Given the description of an element on the screen output the (x, y) to click on. 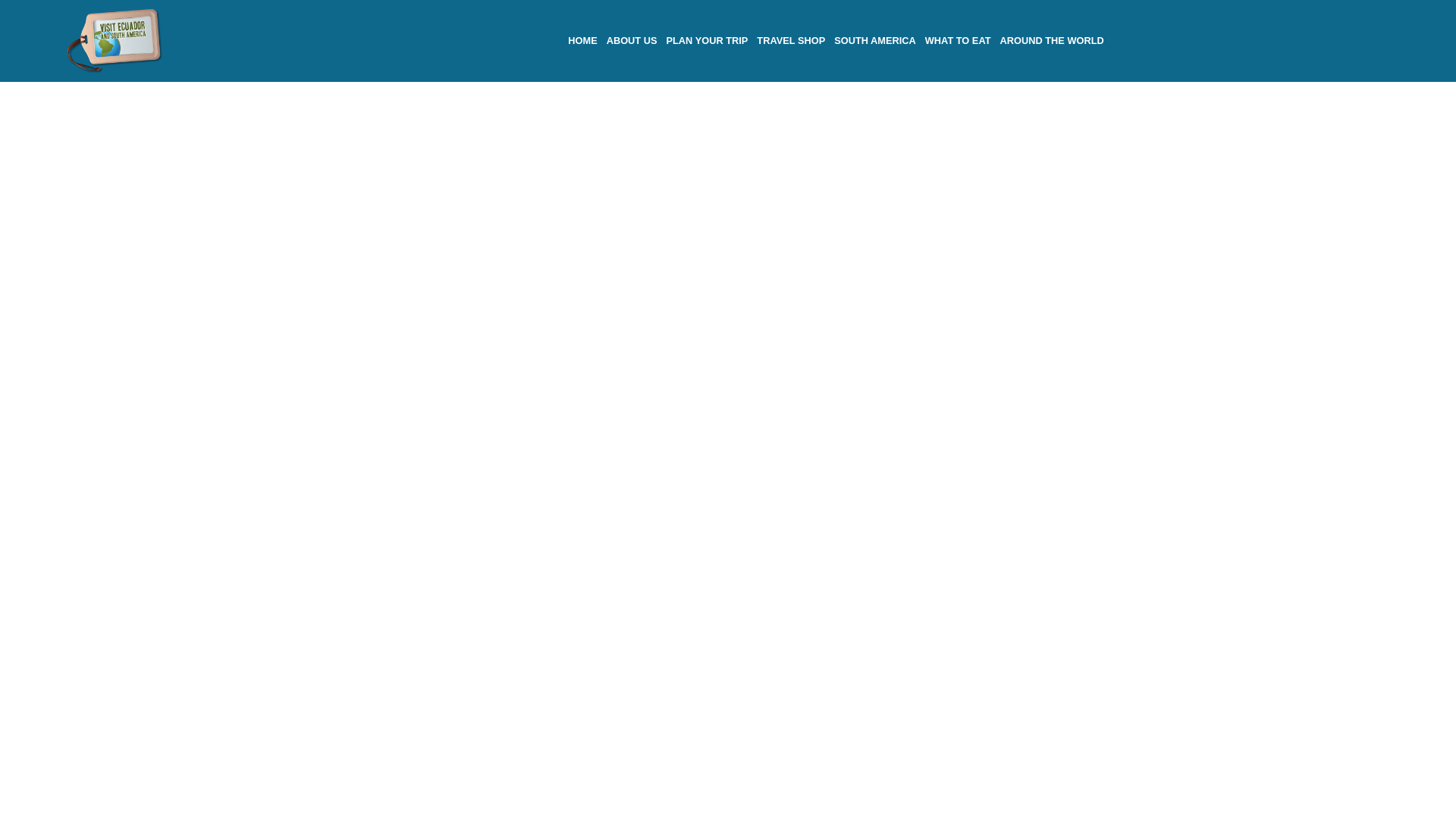
ABOUT US (632, 40)
PLAN YOUR TRIP (707, 40)
TRAVEL SHOP (790, 40)
HOME (582, 40)
